Given the description of an element on the screen output the (x, y) to click on. 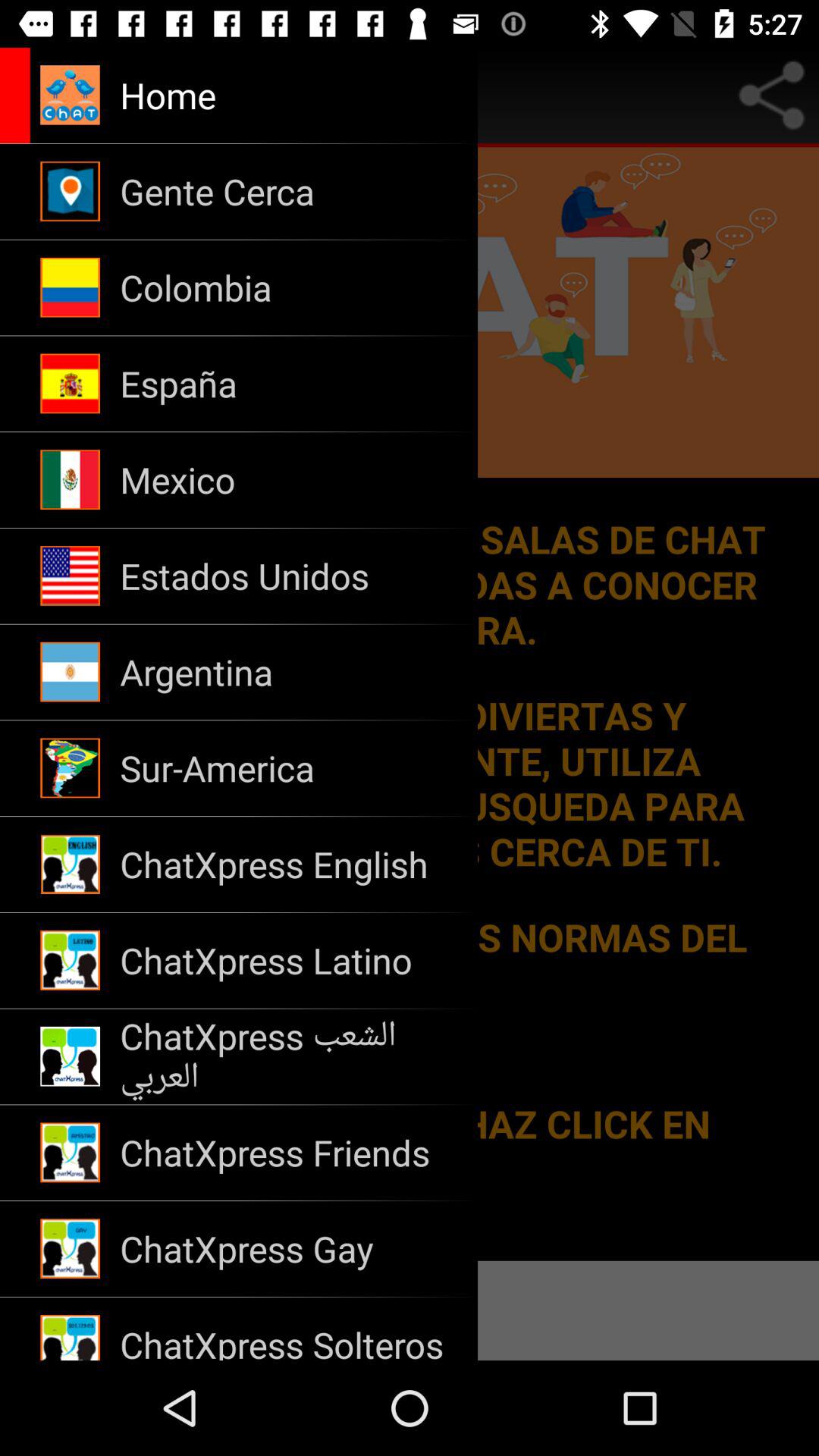
scroll to the chatxpress latino item (288, 960)
